Given the description of an element on the screen output the (x, y) to click on. 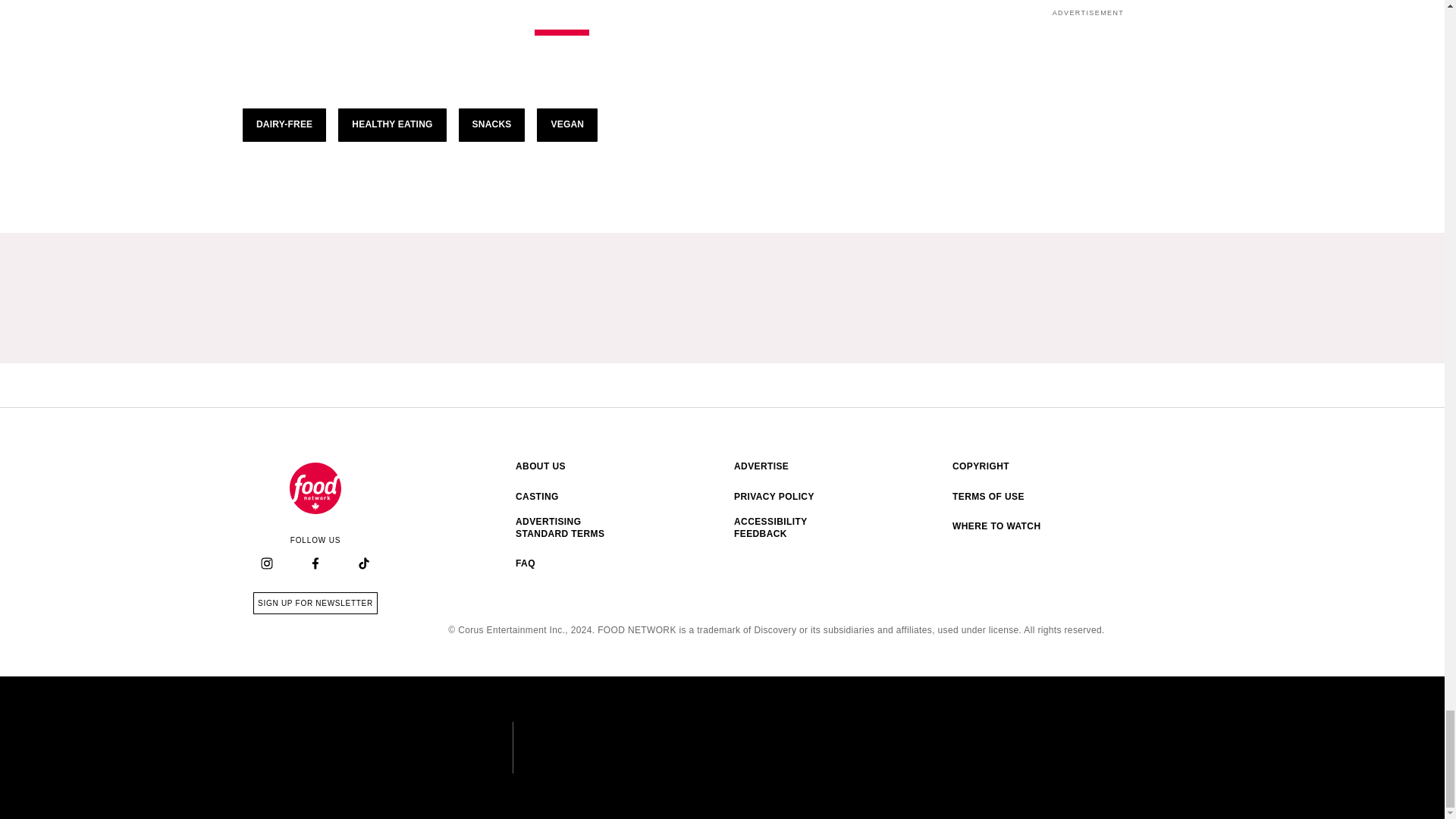
Food Network Canada home (314, 488)
Follow Food Network Canada on Facebook (315, 564)
Instagram (266, 563)
Follow Food Network Canada on Instagram (267, 564)
